Given the description of an element on the screen output the (x, y) to click on. 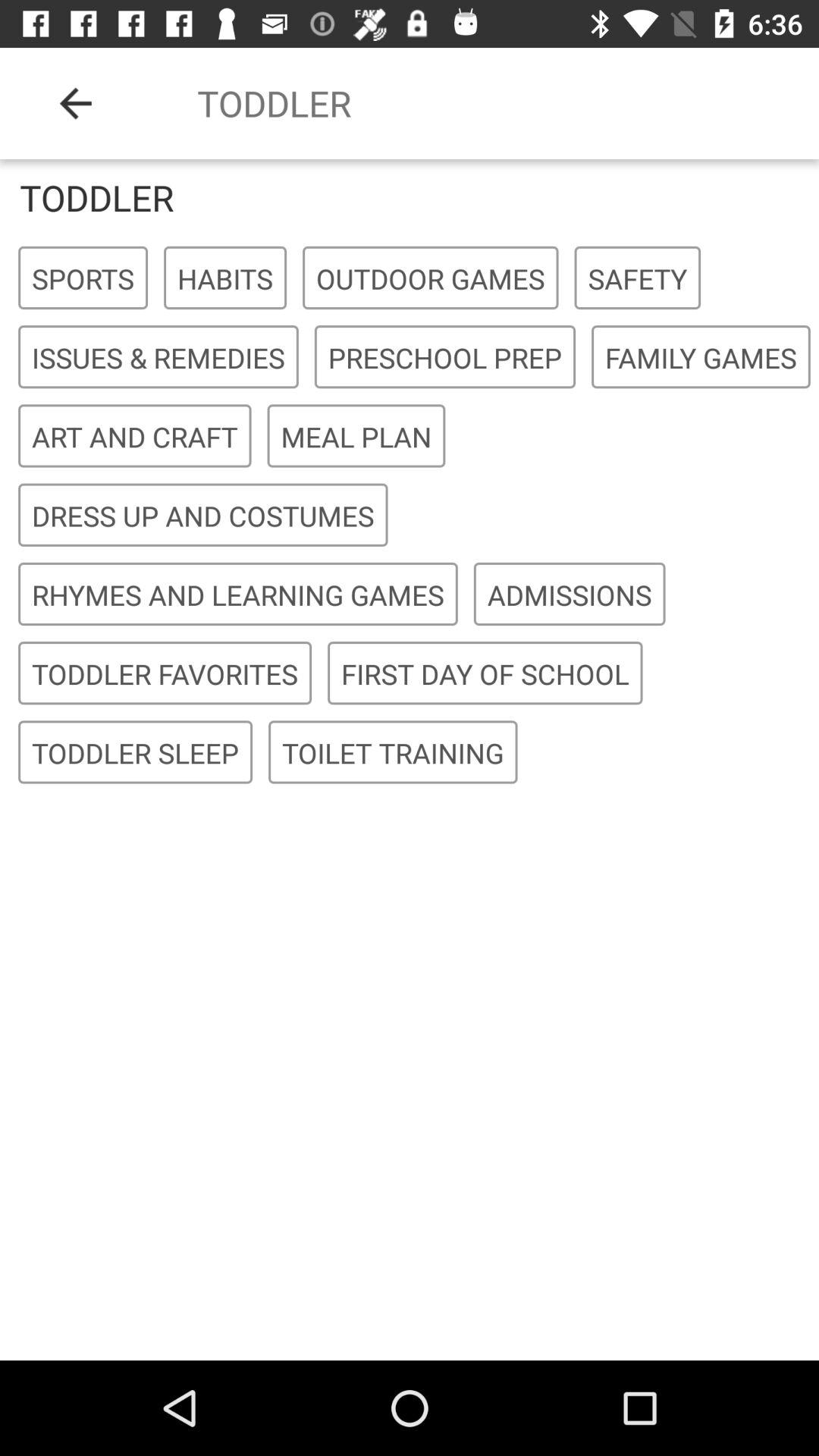
scroll until the rhymes and learning (237, 594)
